Given the description of an element on the screen output the (x, y) to click on. 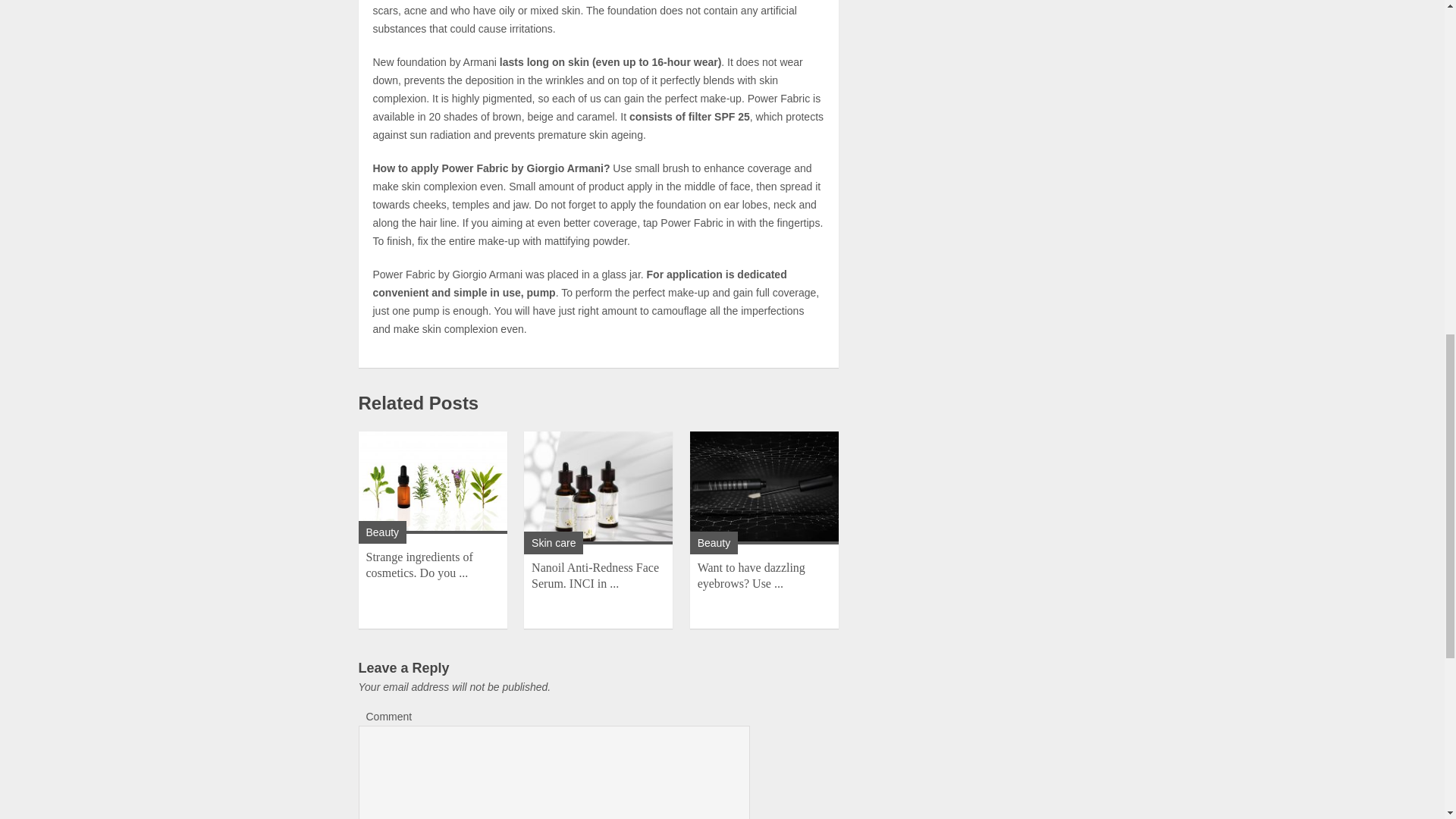
Want to have dazzling eyebrows? Use Nanobrow! (751, 575)
Strange ingredients of cosmetics. Do you use them as well? (432, 482)
Skin care (553, 542)
Beauty (381, 532)
Nanoil Anti-Redness Face Serum. INCI in ... (595, 575)
View all posts in Beauty (381, 532)
Want to have dazzling eyebrows? Use Nanobrow! (764, 487)
View all posts in Beauty (713, 542)
Nanoil Anti-Redness Face Serum. INCI in Close-Up (595, 575)
Strange ingredients of cosmetics. Do you use them as well? (418, 564)
